Given the description of an element on the screen output the (x, y) to click on. 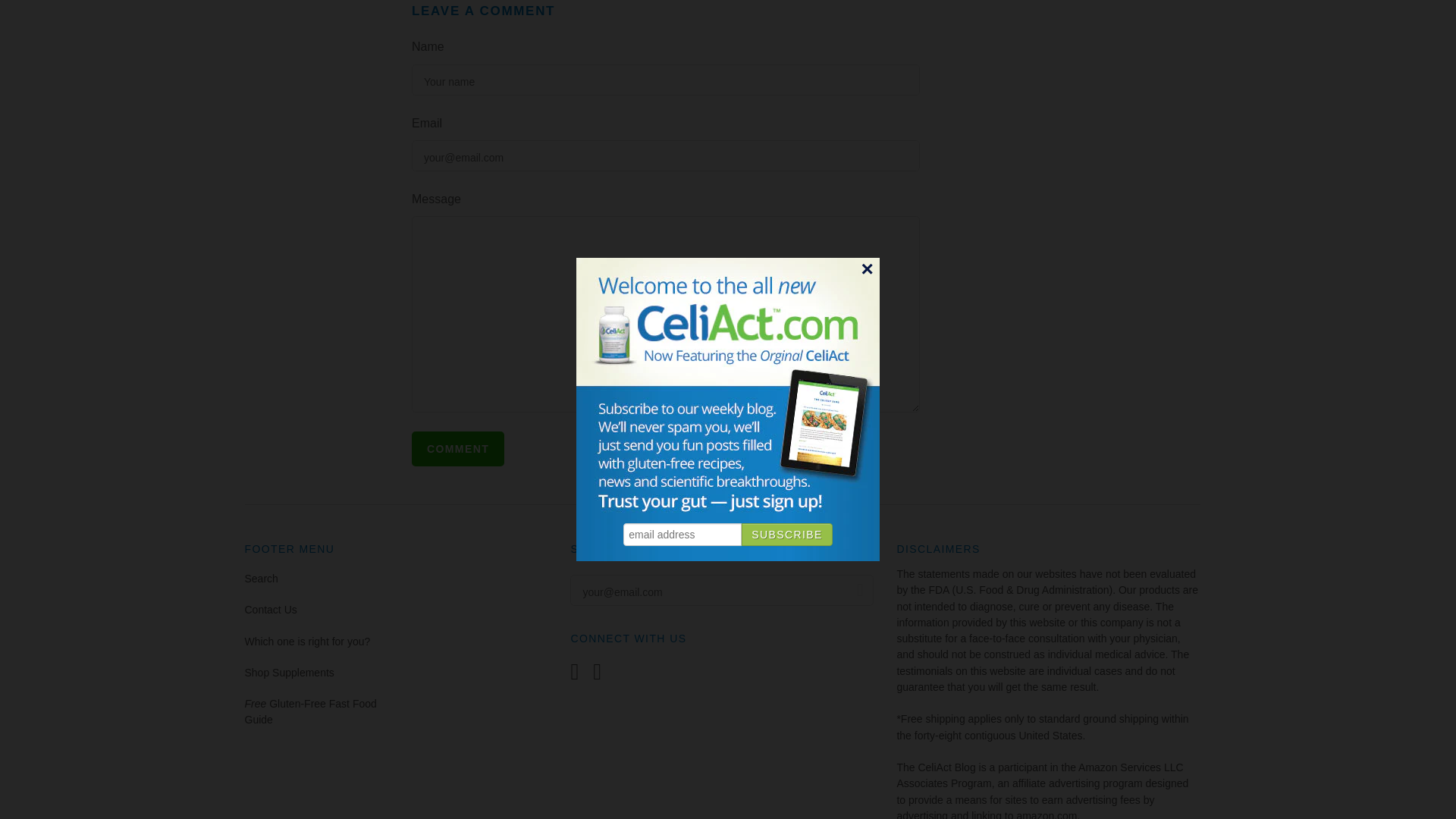
Comment (457, 448)
